Given the description of an element on the screen output the (x, y) to click on. 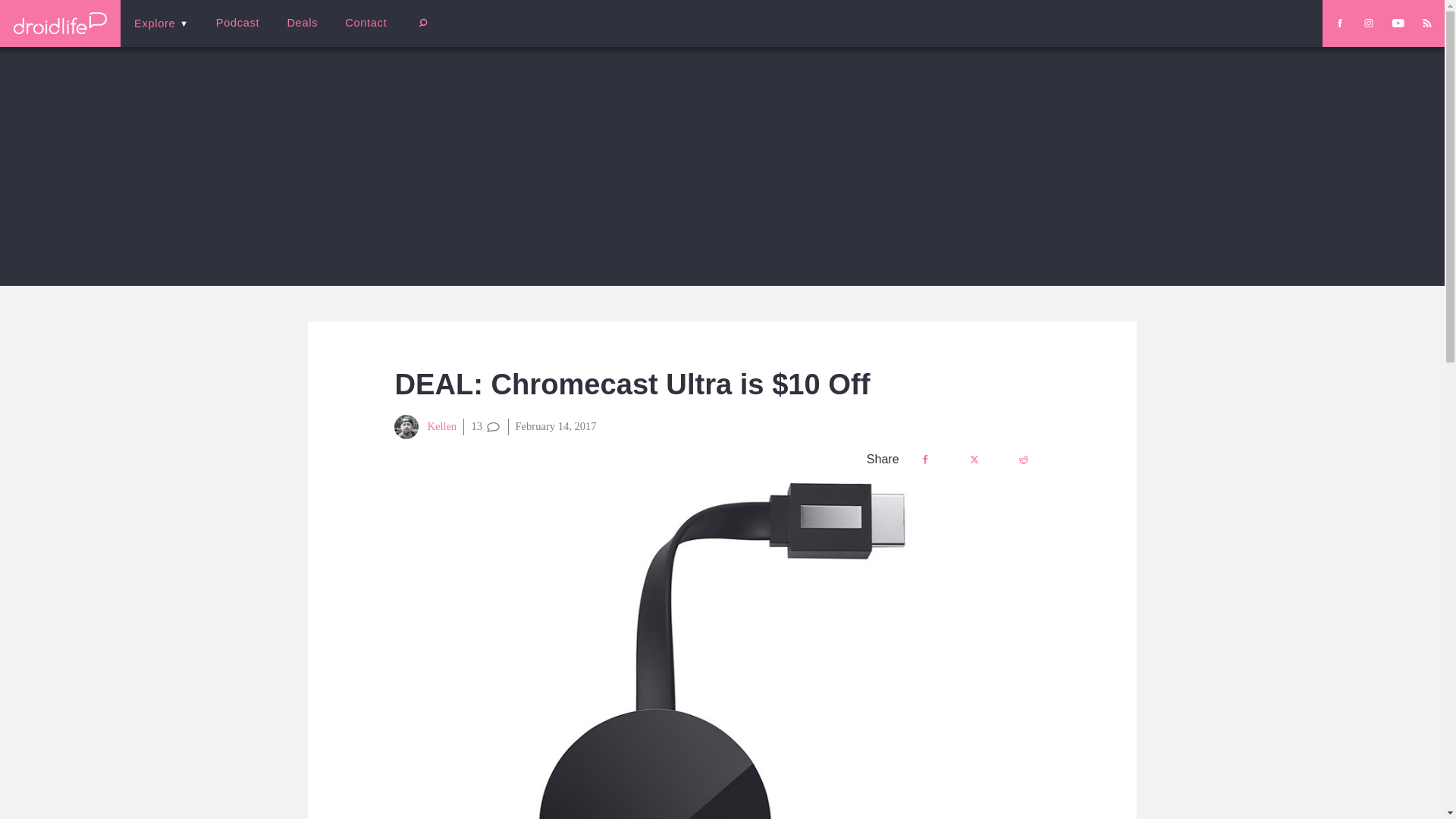
Deals (302, 23)
Podcast (237, 23)
Droid Life on YouTube (1398, 23)
Kellen (425, 426)
Contact (365, 23)
Droid Life on Instagram (1368, 23)
Droid Life on Facebook (1339, 23)
Beginners' Guide (360, 33)
Explore (161, 23)
Droid Life RSS (1426, 23)
